Given the description of an element on the screen output the (x, y) to click on. 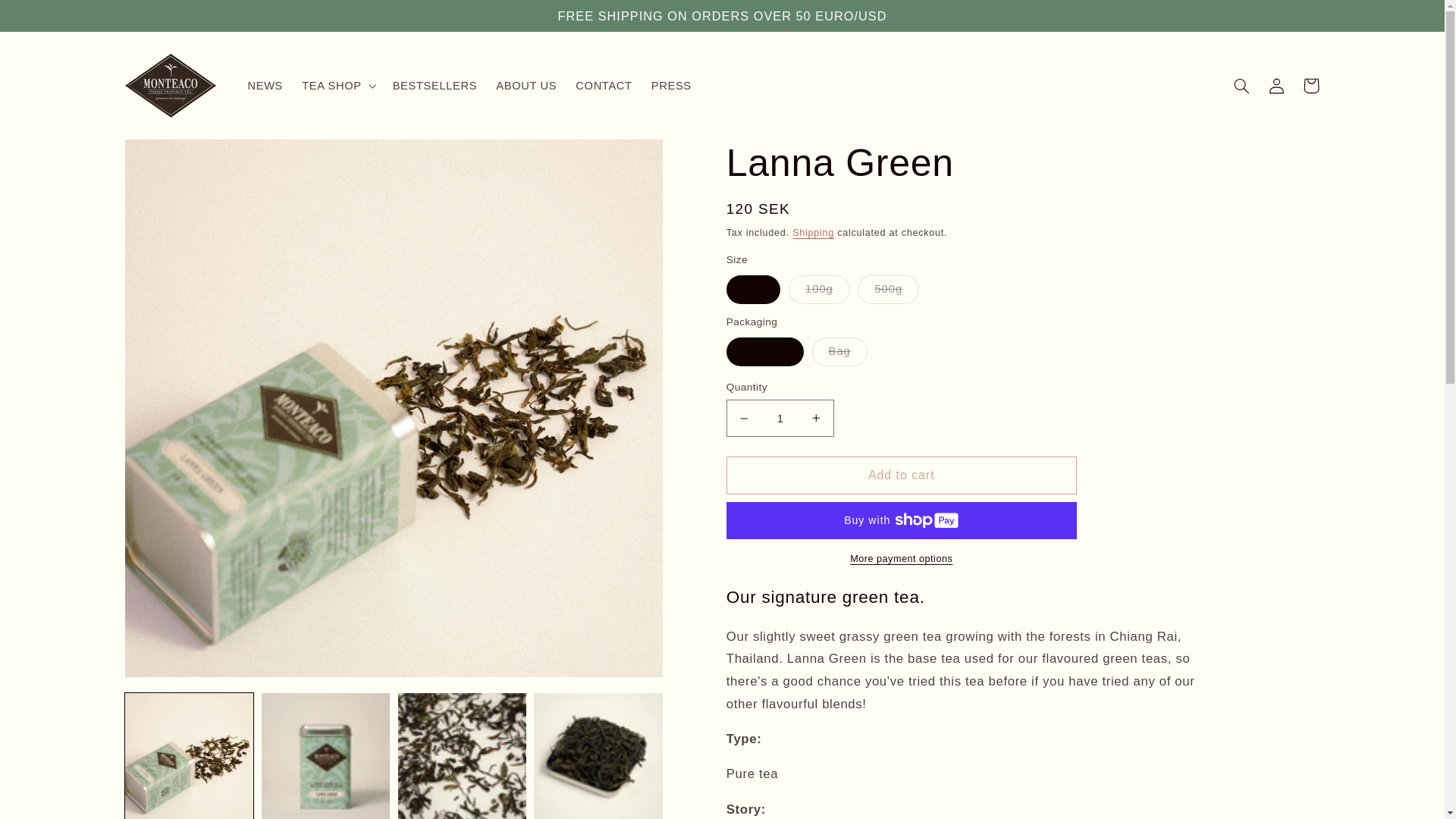
Skip to content (48, 18)
NEWS (265, 85)
BESTSELLERS (434, 85)
CONTACT (604, 85)
PRESS (671, 85)
ABOUT US (526, 85)
Log in (1276, 85)
1 (780, 417)
